Given the description of an element on the screen output the (x, y) to click on. 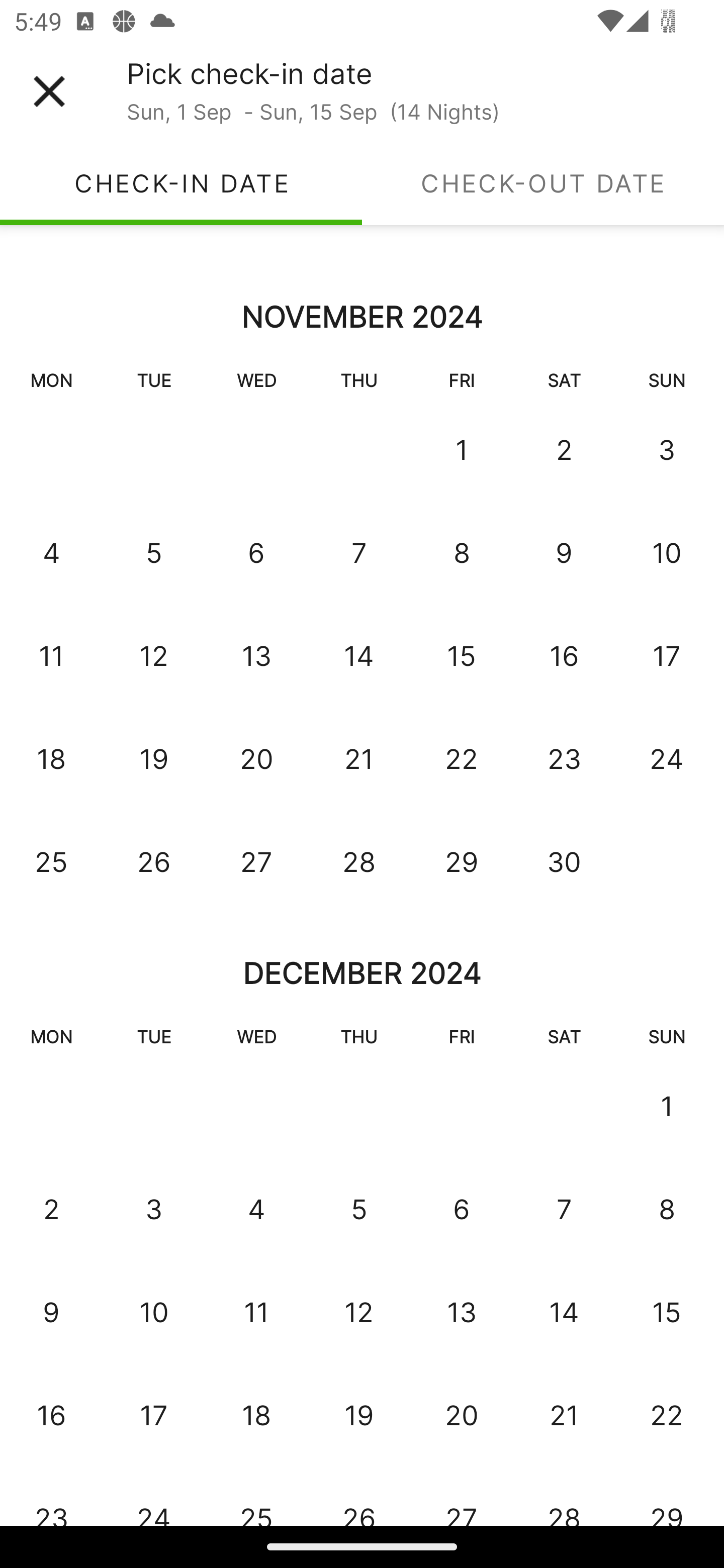
Check-out Date CHECK-OUT DATE (543, 183)
